Given the description of an element on the screen output the (x, y) to click on. 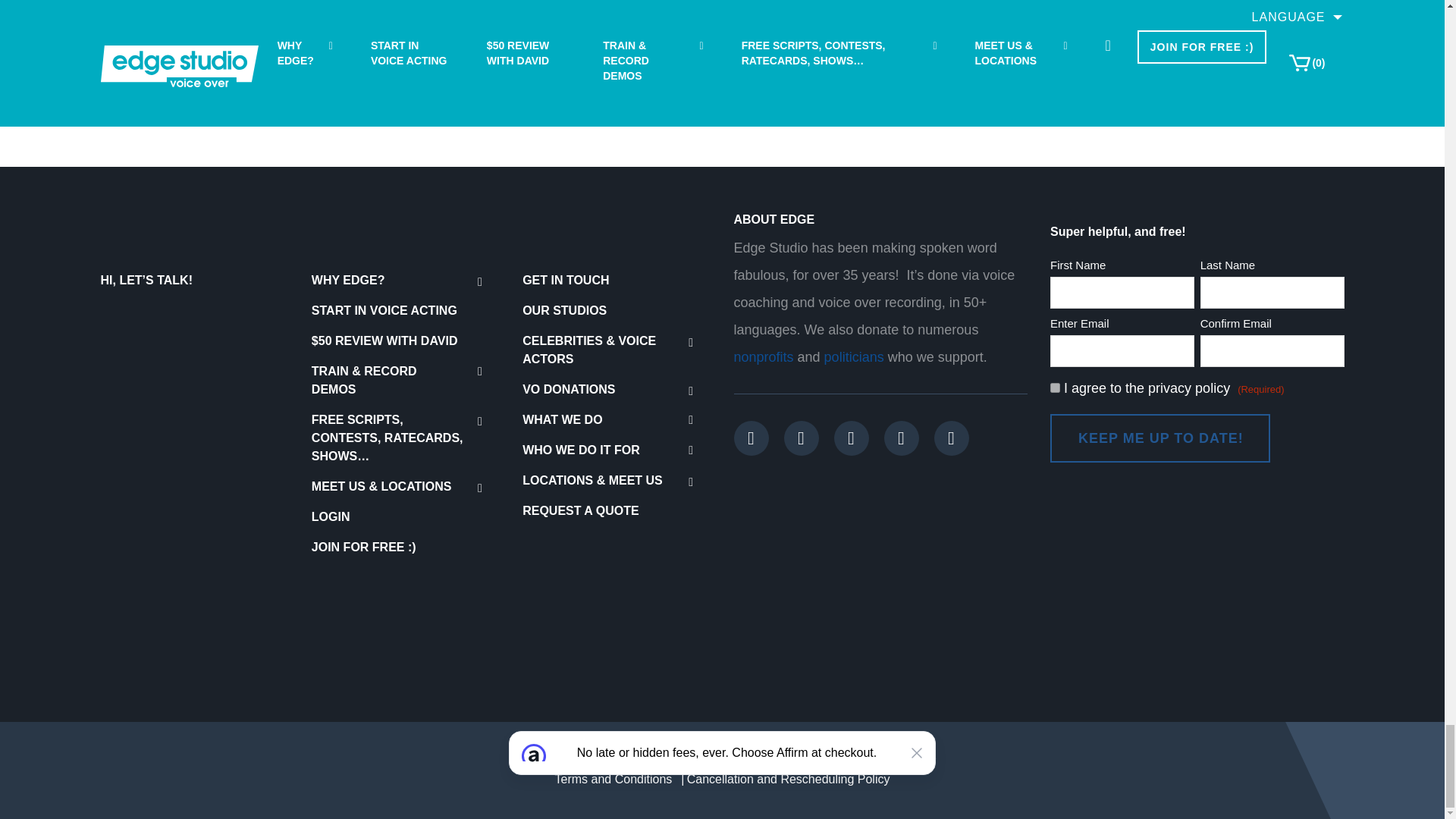
1 (1054, 388)
DMCA.com Protection Status (213, 617)
Keep me up to date! (1159, 438)
